Given the description of an element on the screen output the (x, y) to click on. 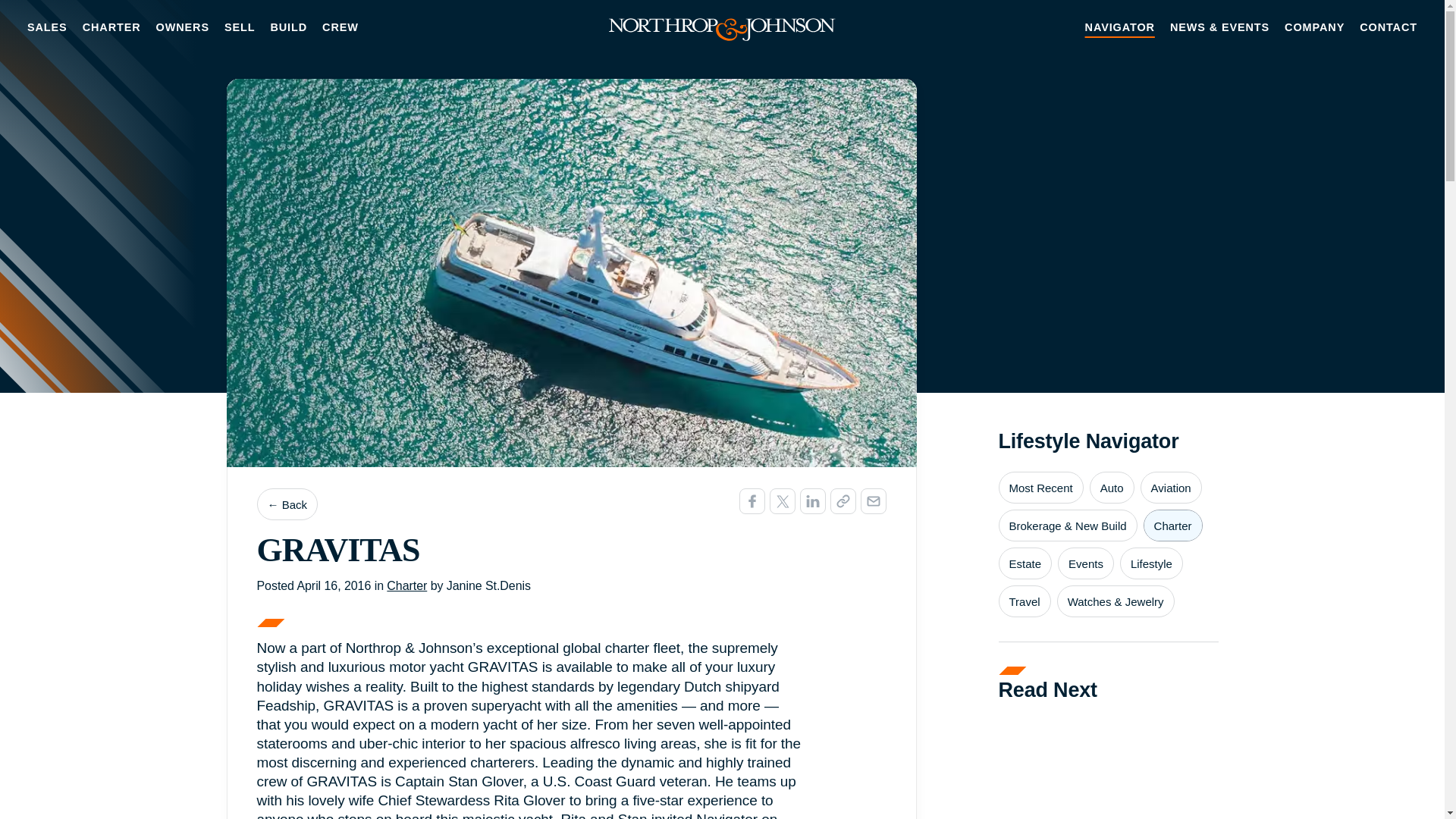
SALES (47, 27)
OWNERS (182, 27)
NAVIGATOR (1119, 27)
CHARTER (111, 27)
Share with LinkedIn (812, 501)
Northrop and Johnson (721, 26)
Share with Facebook (751, 501)
Share with Twitter (781, 501)
Share with Email (872, 501)
Copy Link to Clipboard (842, 501)
CREW (340, 27)
BUILD (288, 27)
